Given the description of an element on the screen output the (x, y) to click on. 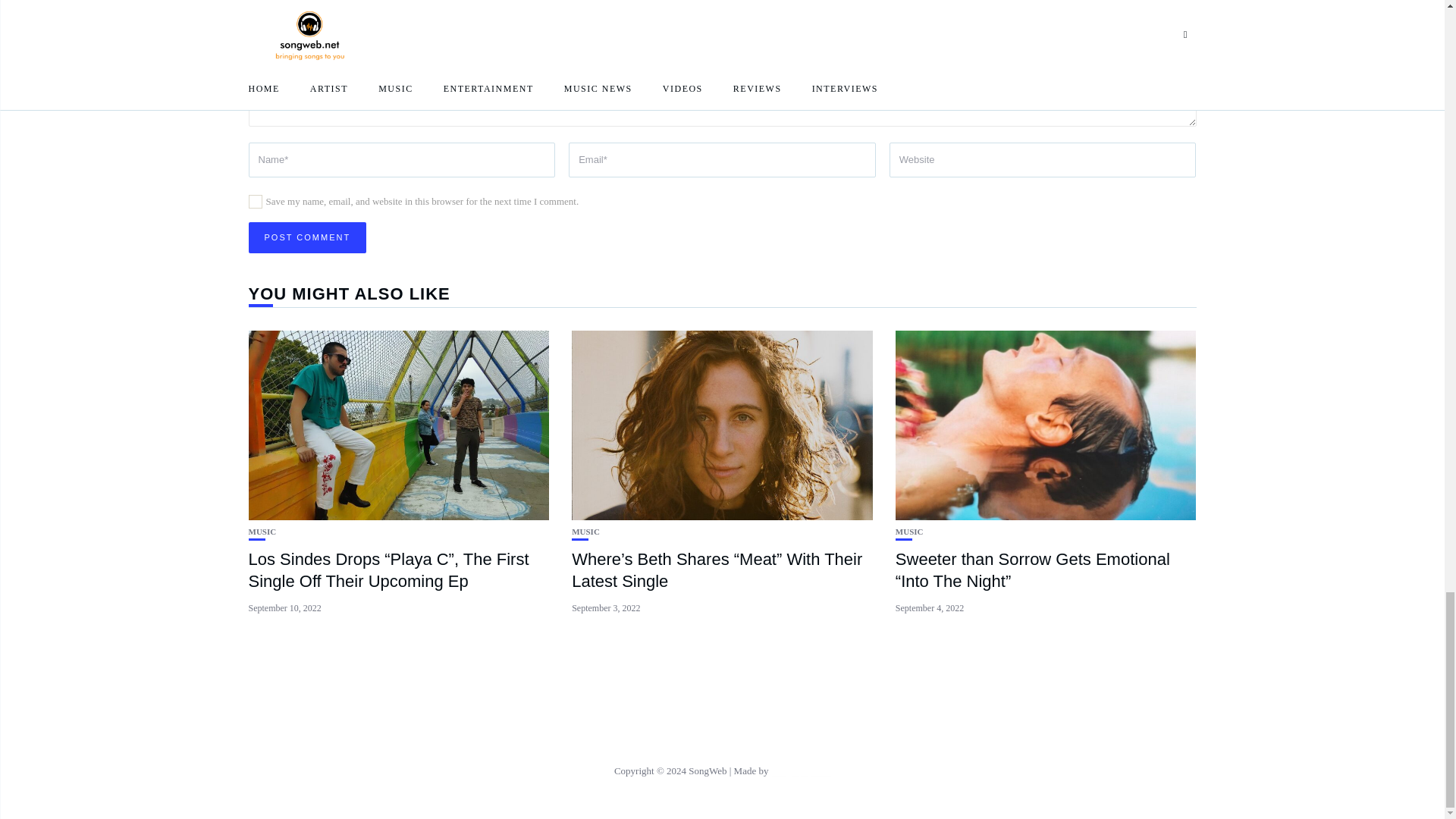
Post Comment (307, 237)
MUSIC (909, 531)
MUSIC (262, 531)
yes (255, 201)
Privacy Policy (722, 735)
Post Comment (307, 237)
BiographyWeb (800, 770)
MUSIC (585, 531)
